Given the description of an element on the screen output the (x, y) to click on. 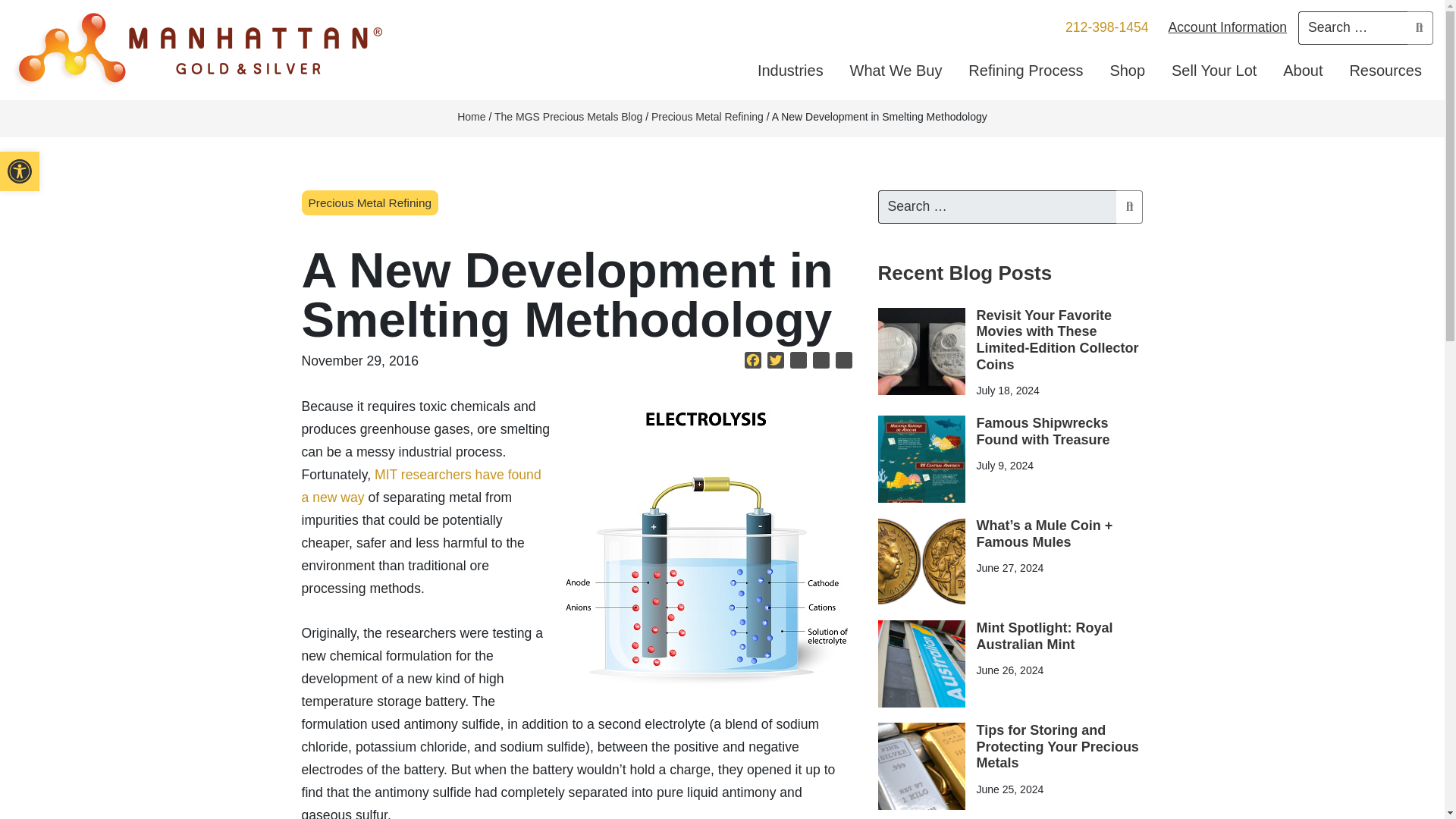
Facebook (752, 362)
Email (820, 362)
Accessibility Tools (19, 170)
Accessibility Tools (19, 170)
LinkedIn (19, 170)
Copy Link (798, 362)
Search for: (844, 362)
Search for: (996, 206)
Twitter (1352, 28)
